Given the description of an element on the screen output the (x, y) to click on. 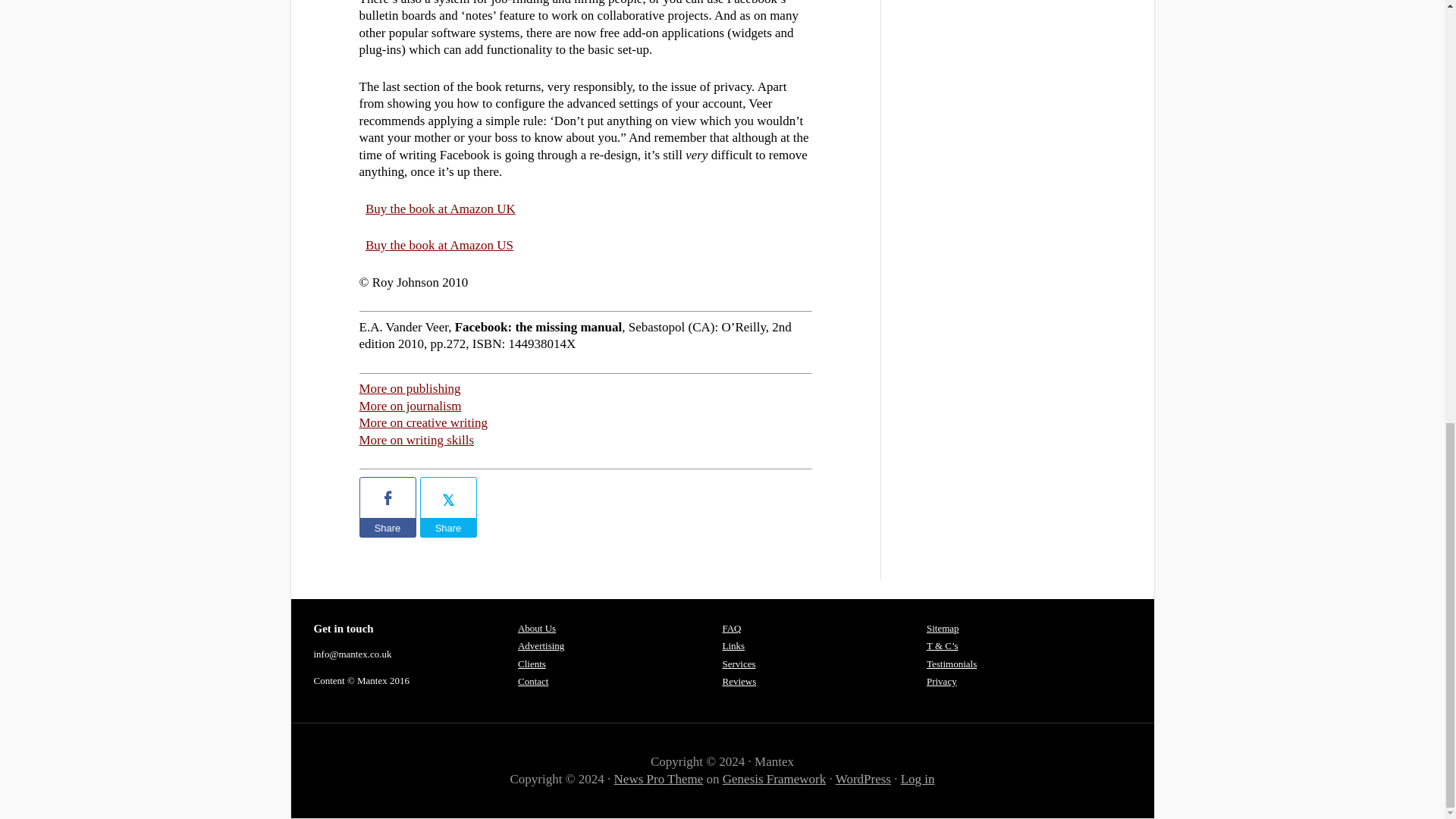
Share (387, 527)
Links (733, 645)
About Us (537, 627)
More on creative writing (423, 422)
Advertising (541, 645)
Contact (533, 681)
More on writing skills (416, 440)
Share (448, 527)
FAQ (731, 627)
Buy the book at Amazon UK (440, 208)
